Given the description of an element on the screen output the (x, y) to click on. 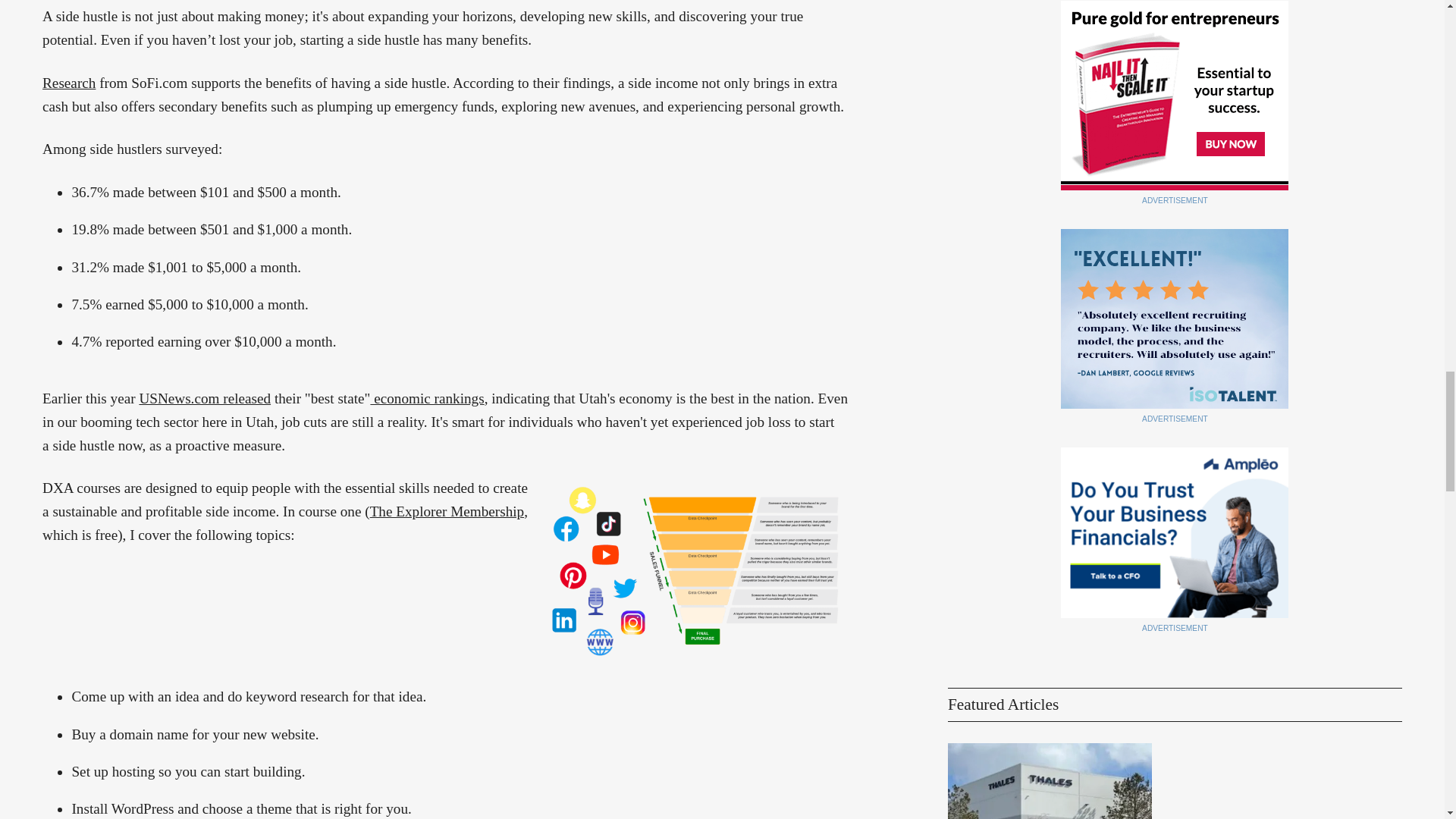
Research (69, 82)
The Explorer Membership (446, 511)
economic rankings (426, 398)
USNews.com released (204, 398)
